Given the description of an element on the screen output the (x, y) to click on. 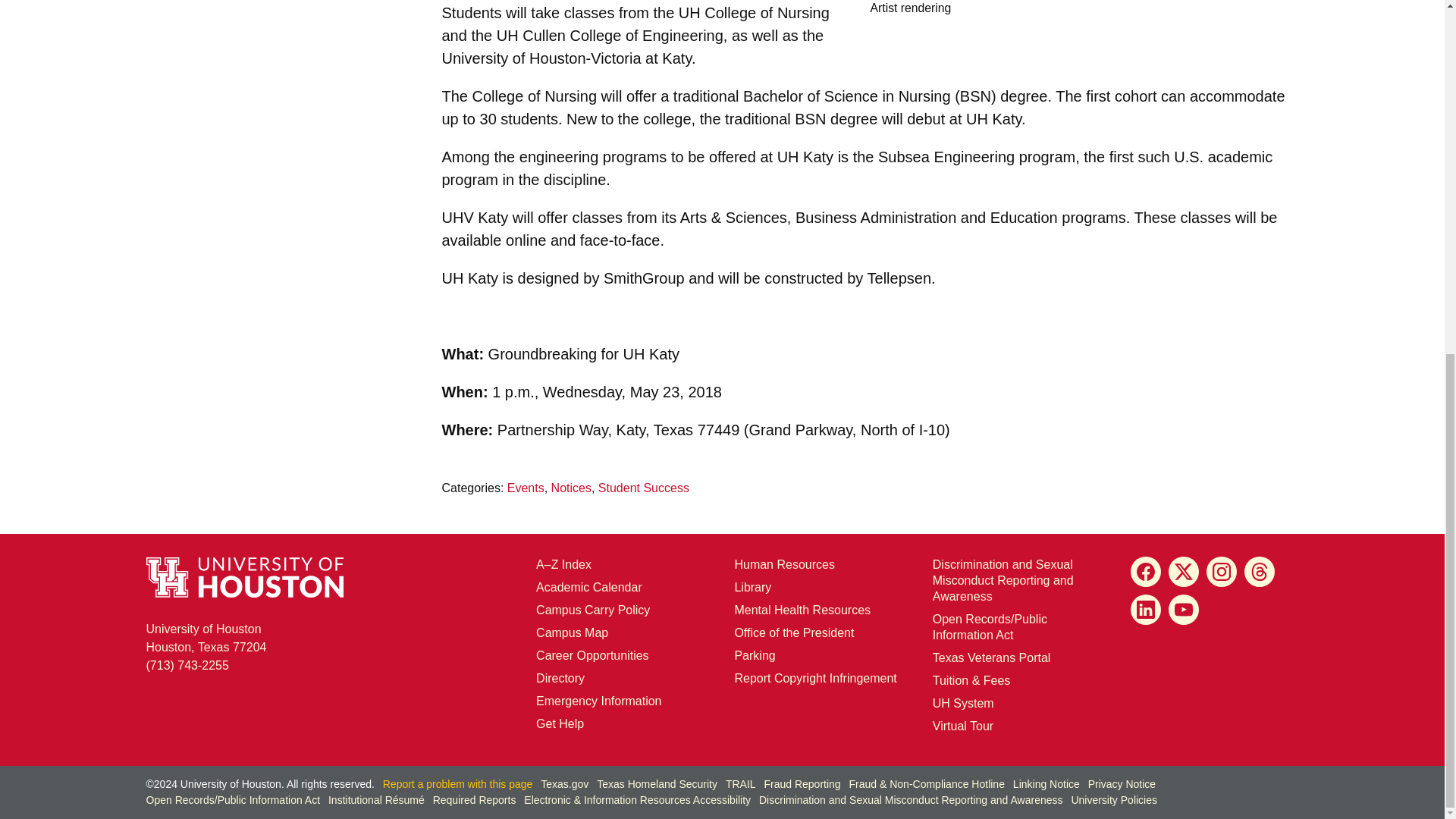
Student Success (643, 487)
Notices (571, 487)
Campus Carry Policy (592, 609)
University of Houston (634, 353)
Events (525, 487)
University of Houston (941, 703)
University of Houston (977, 118)
Academic Calendar (205, 637)
